Given the description of an element on the screen output the (x, y) to click on. 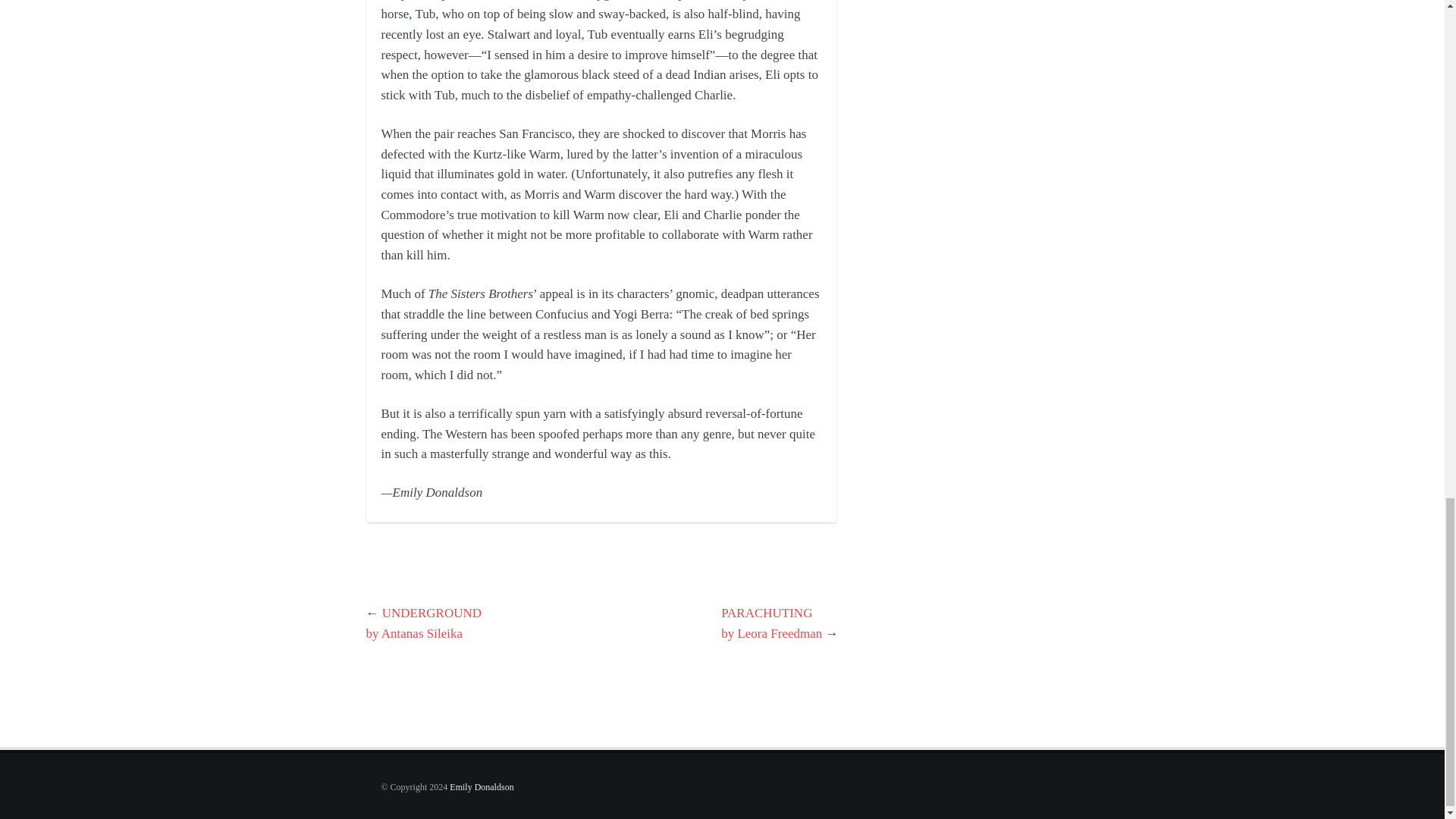
Emily Donaldson (481, 787)
